Given the description of an element on the screen output the (x, y) to click on. 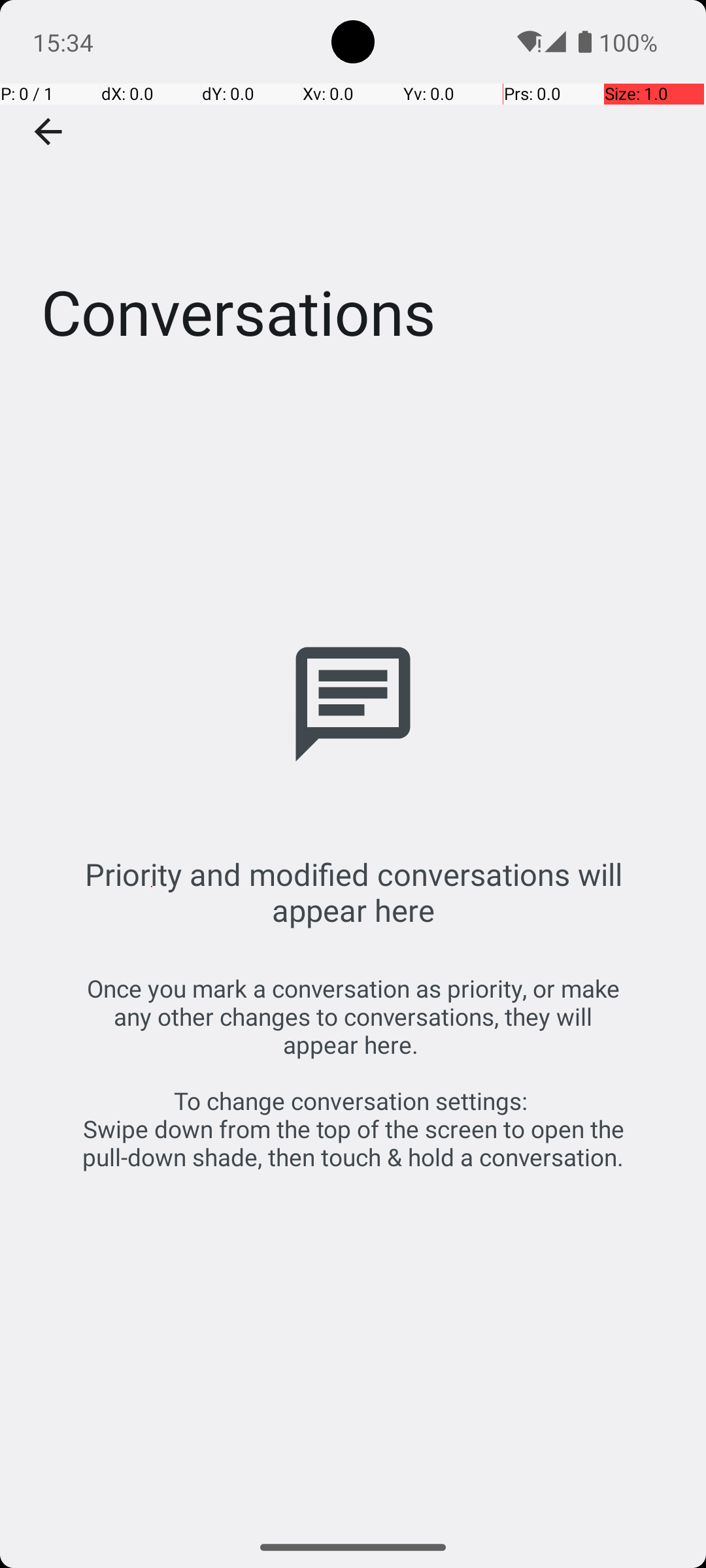
Priority and modified conversations will appear here Element type: android.widget.TextView (352, 891)
Once you mark a conversation as priority, or make any other changes to conversations, they will appear here. 

To change conversation settings: 
Swipe down from the top of the screen to open the pull-down shade, then touch & hold a conversation. Element type: android.widget.TextView (352, 1072)
